Given the description of an element on the screen output the (x, y) to click on. 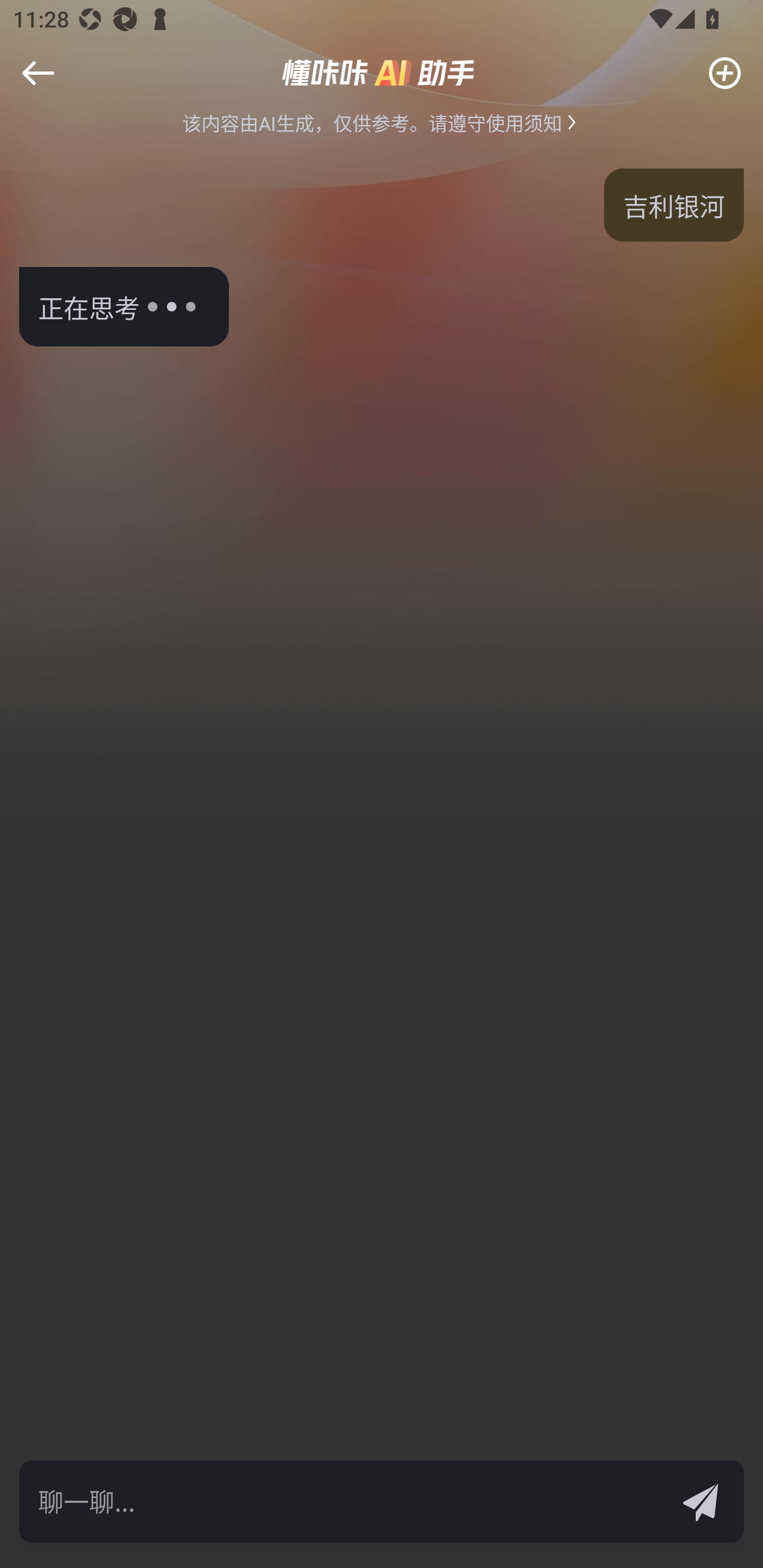
举报 (45, 85)
该内容由AI生成，仅供参考。请遵守使用须知 (381, 122)
